Given the description of an element on the screen output the (x, y) to click on. 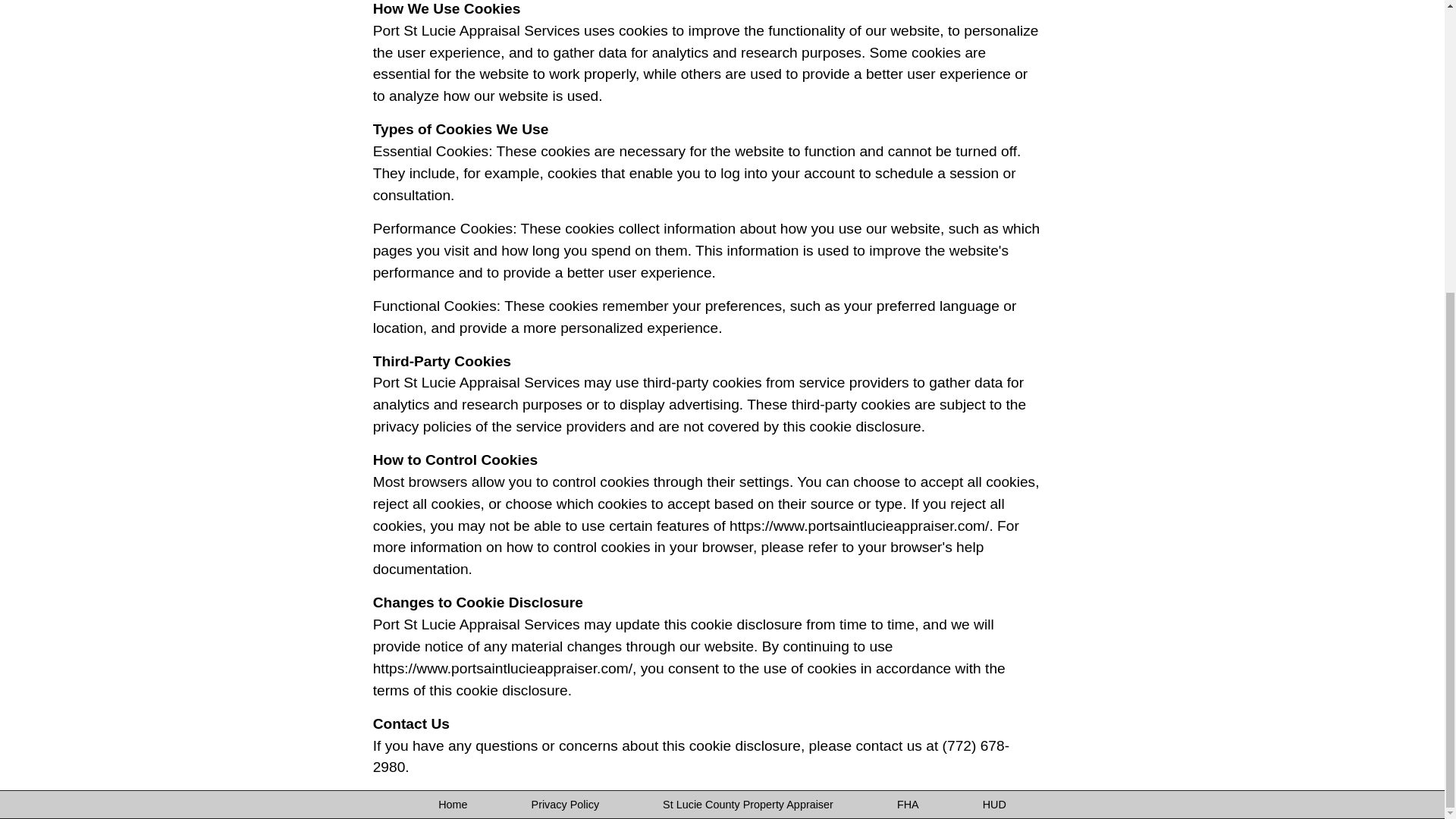
HUD (994, 804)
FHA (907, 804)
St Lucie County Property Appraiser (747, 804)
Privacy Policy (565, 804)
Home (452, 804)
